Given the description of an element on the screen output the (x, y) to click on. 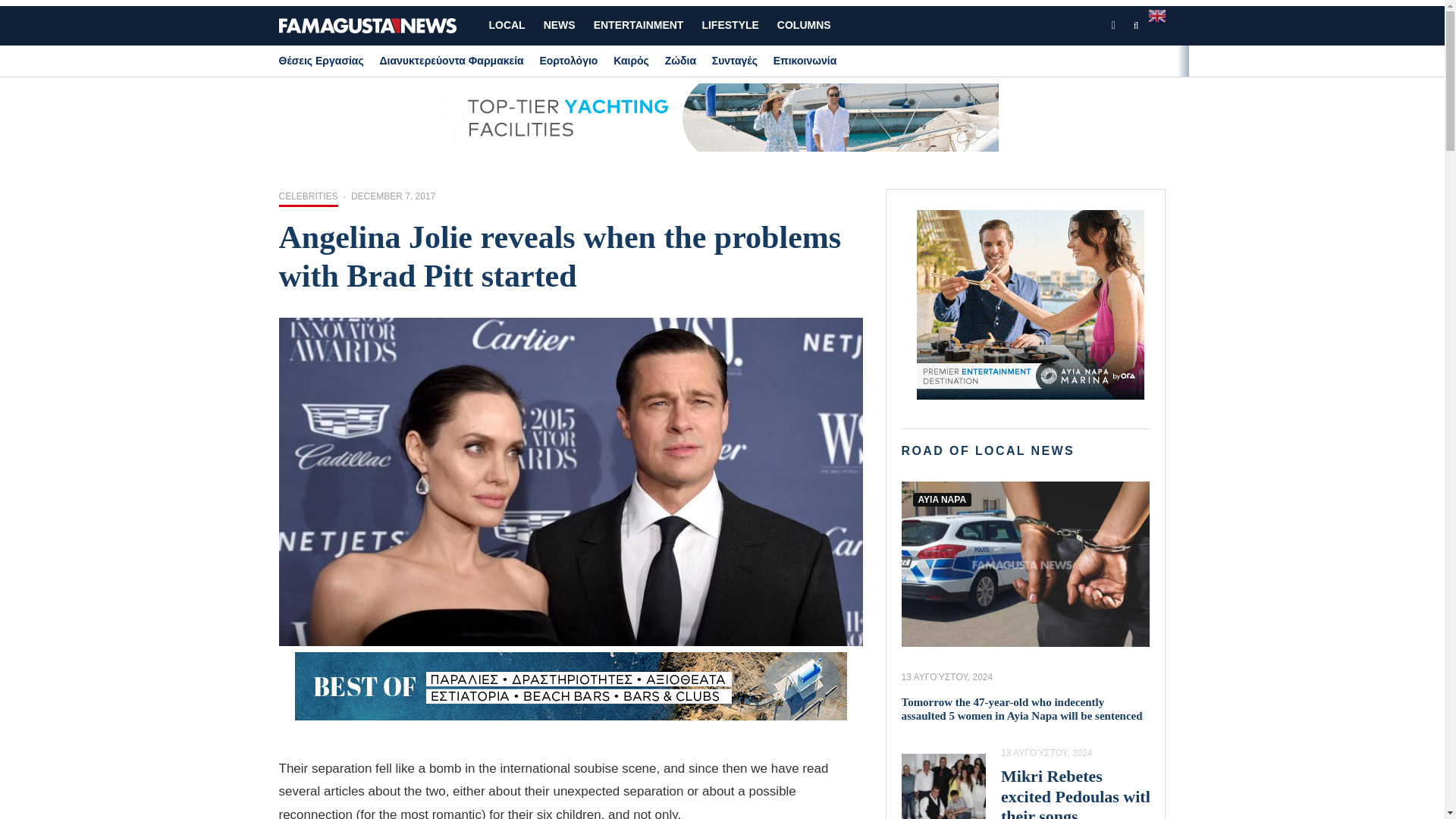
LOCAL (506, 25)
ENTERTAINMENT (639, 25)
NEWS (559, 25)
